Given the description of an element on the screen output the (x, y) to click on. 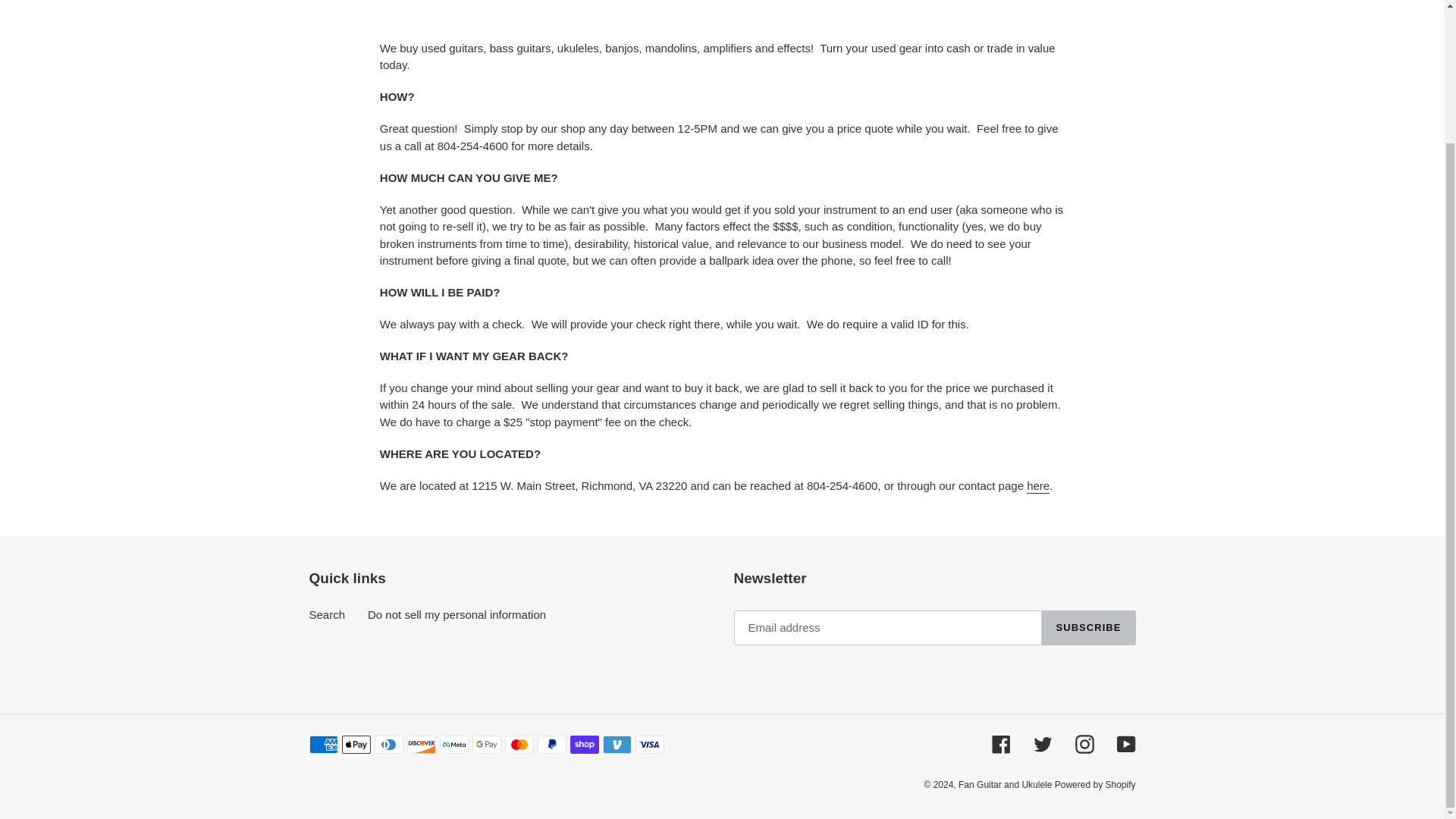
CONTACT US HERE! (1037, 486)
